Given the description of an element on the screen output the (x, y) to click on. 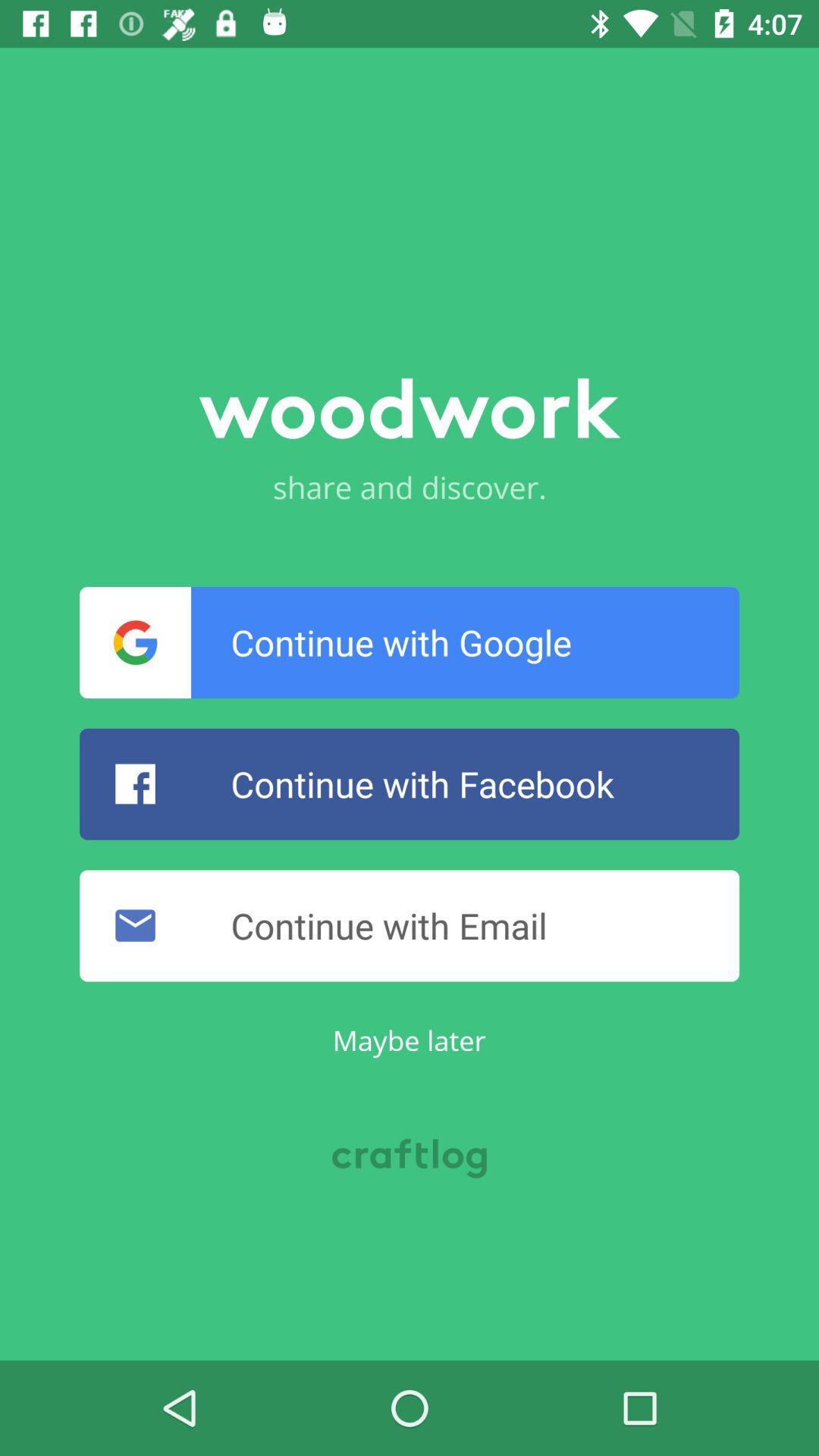
swipe to the maybe later (408, 1040)
